Given the description of an element on the screen output the (x, y) to click on. 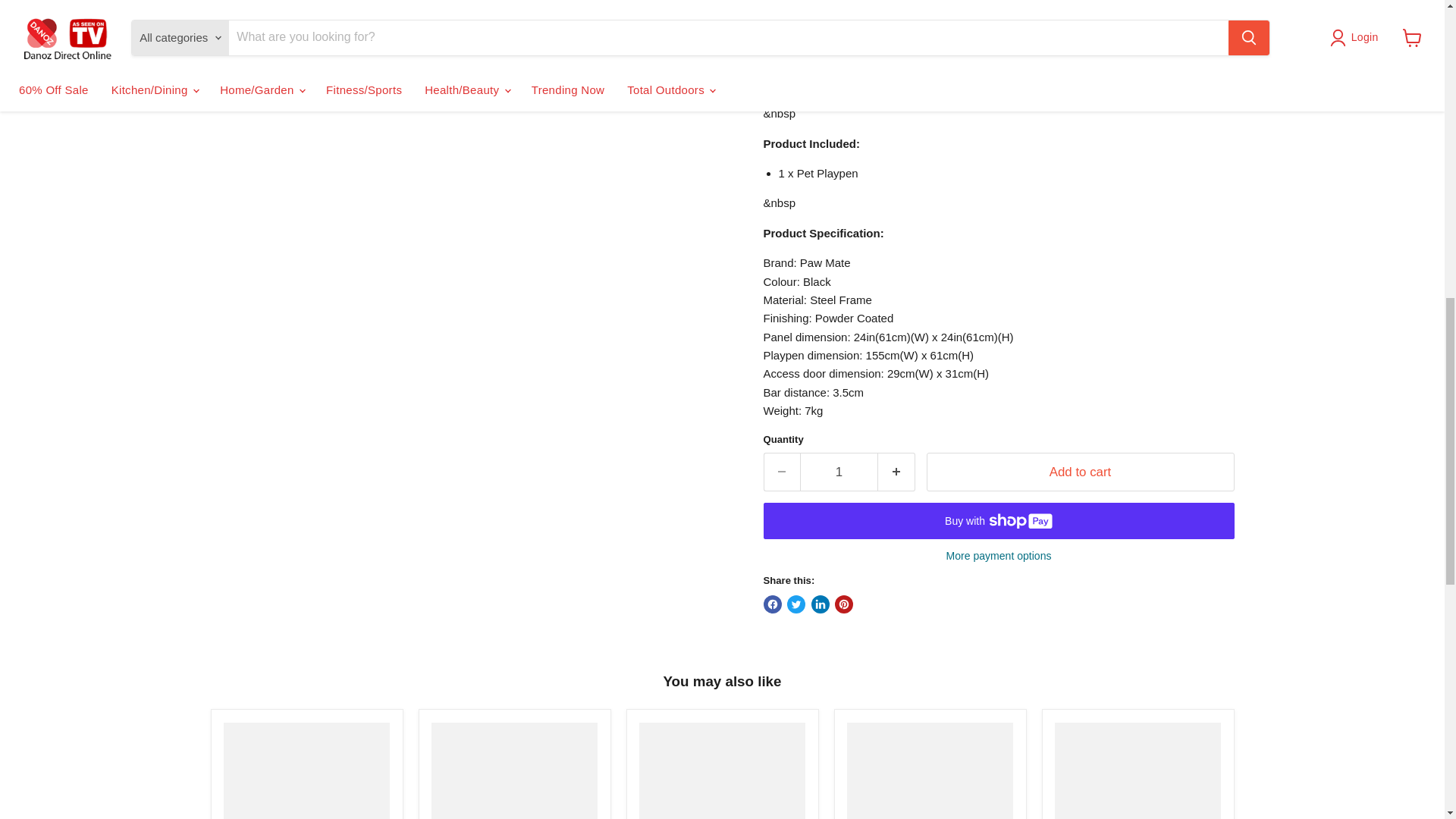
1 (838, 471)
